Given the description of an element on the screen output the (x, y) to click on. 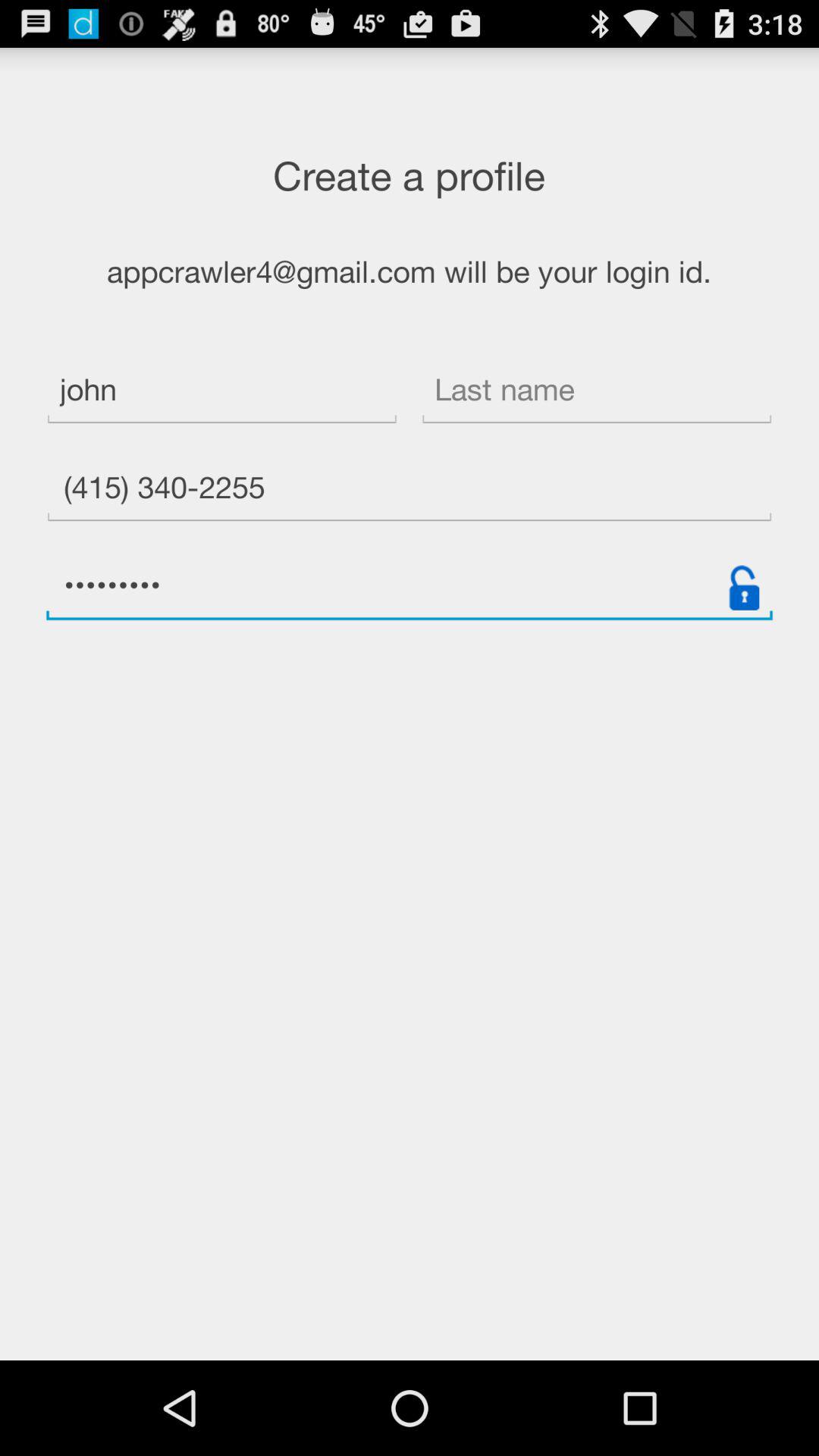
tap icon next to the john item (596, 392)
